Given the description of an element on the screen output the (x, y) to click on. 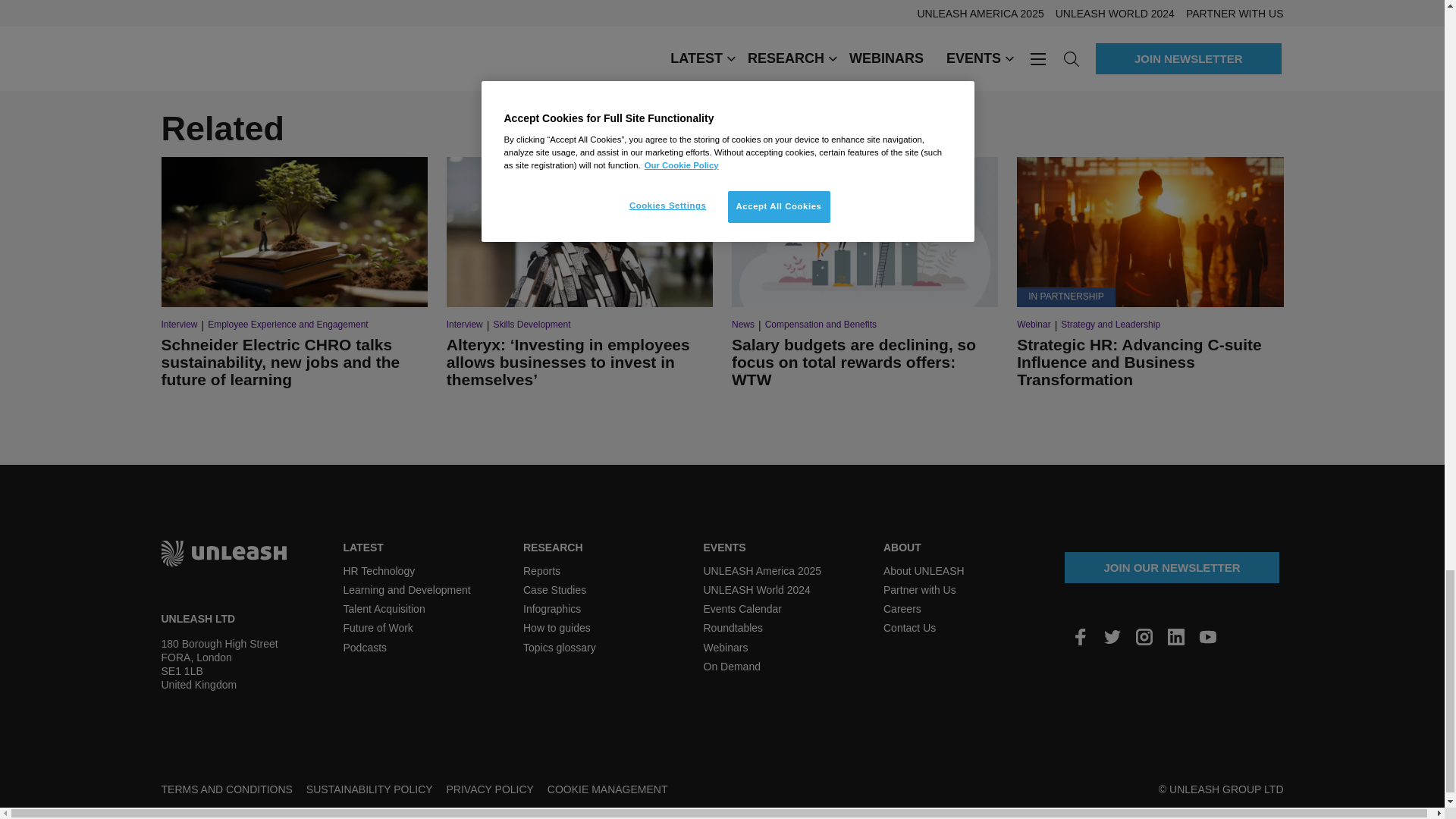
UNLEASH (222, 552)
